Given the description of an element on the screen output the (x, y) to click on. 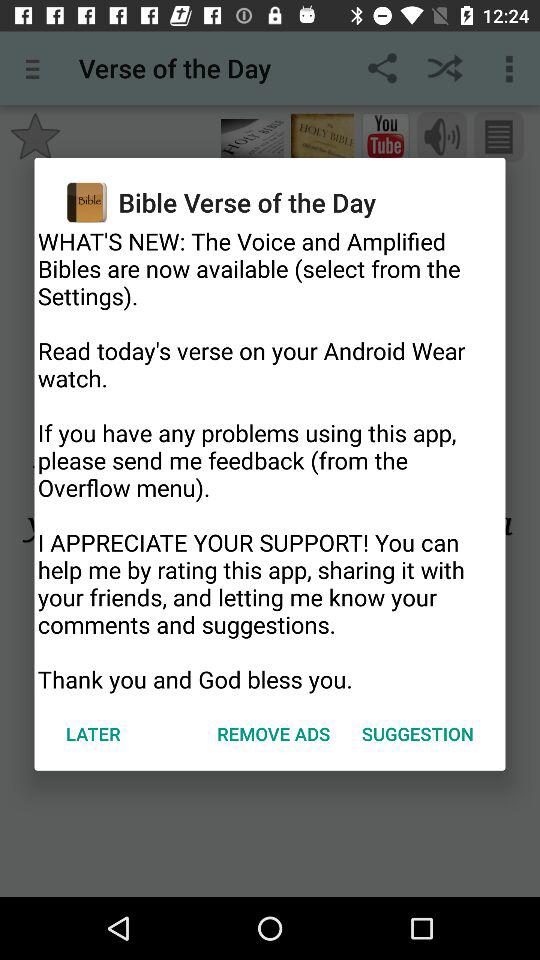
select item to the right of the later (273, 733)
